Given the description of an element on the screen output the (x, y) to click on. 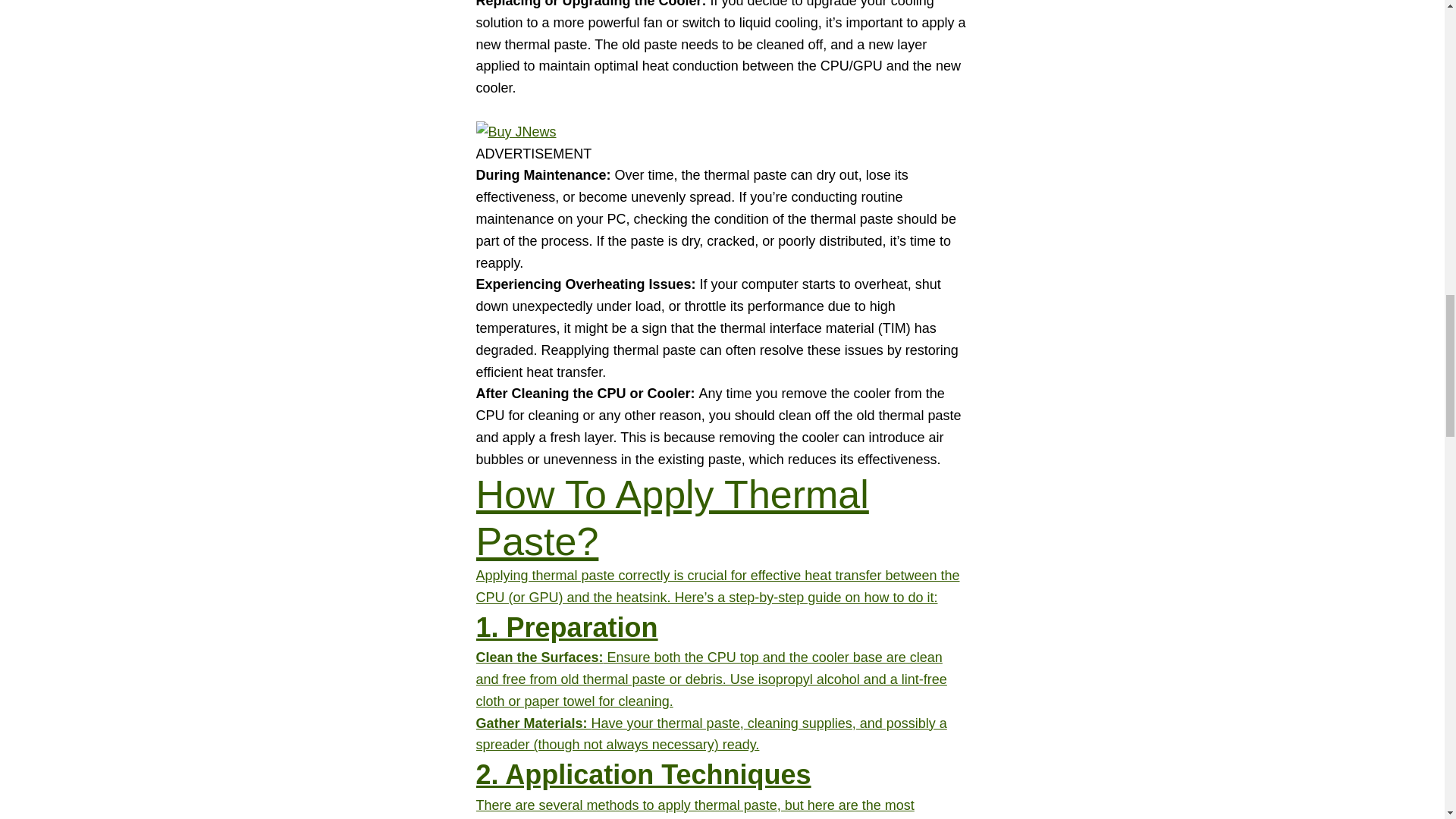
2. Application Techniques (643, 774)
1. Preparation (567, 626)
How To Apply Thermal Paste? (672, 517)
